Given the description of an element on the screen output the (x, y) to click on. 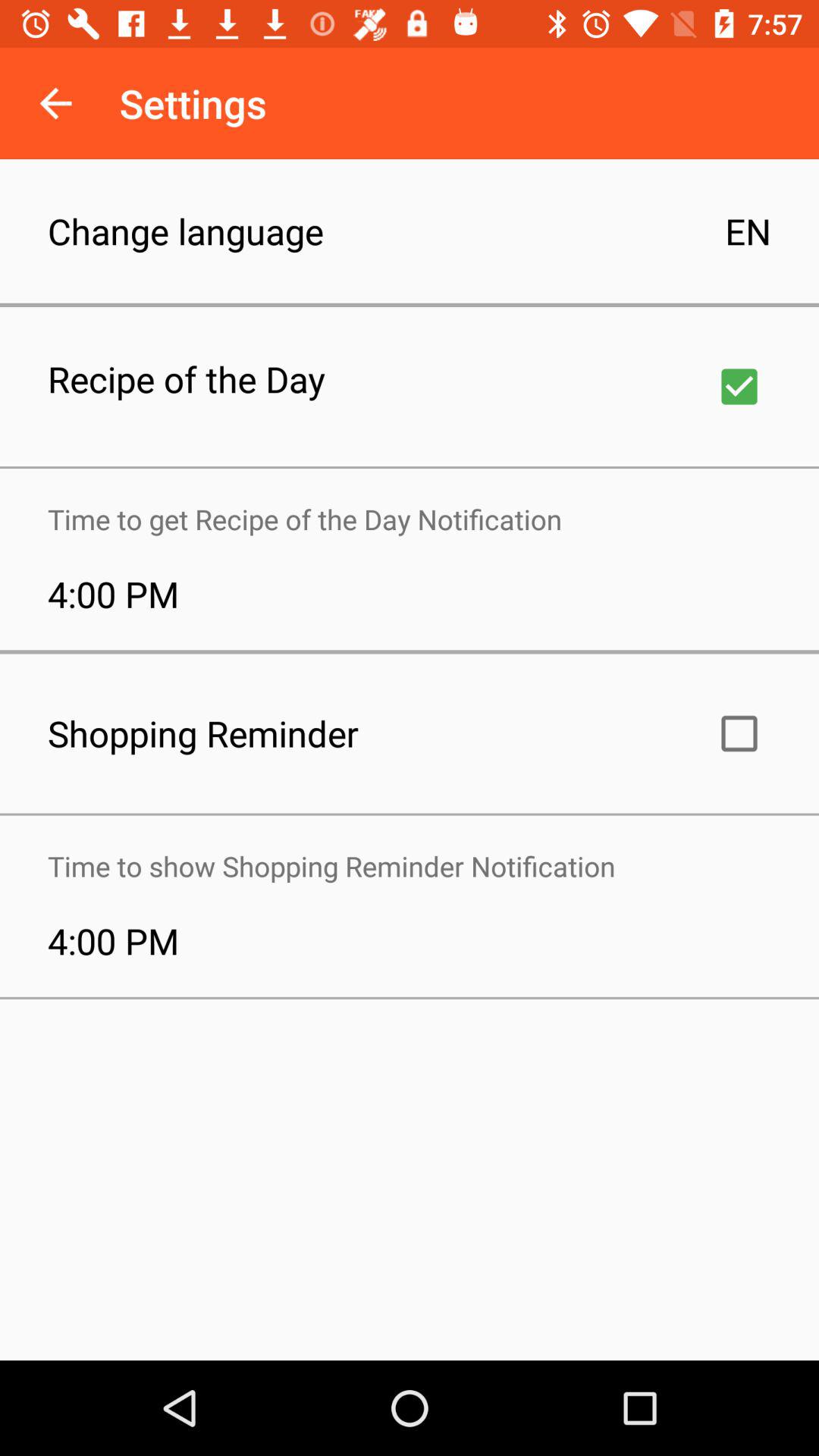
toggle recipe checkbox (739, 386)
